Given the description of an element on the screen output the (x, y) to click on. 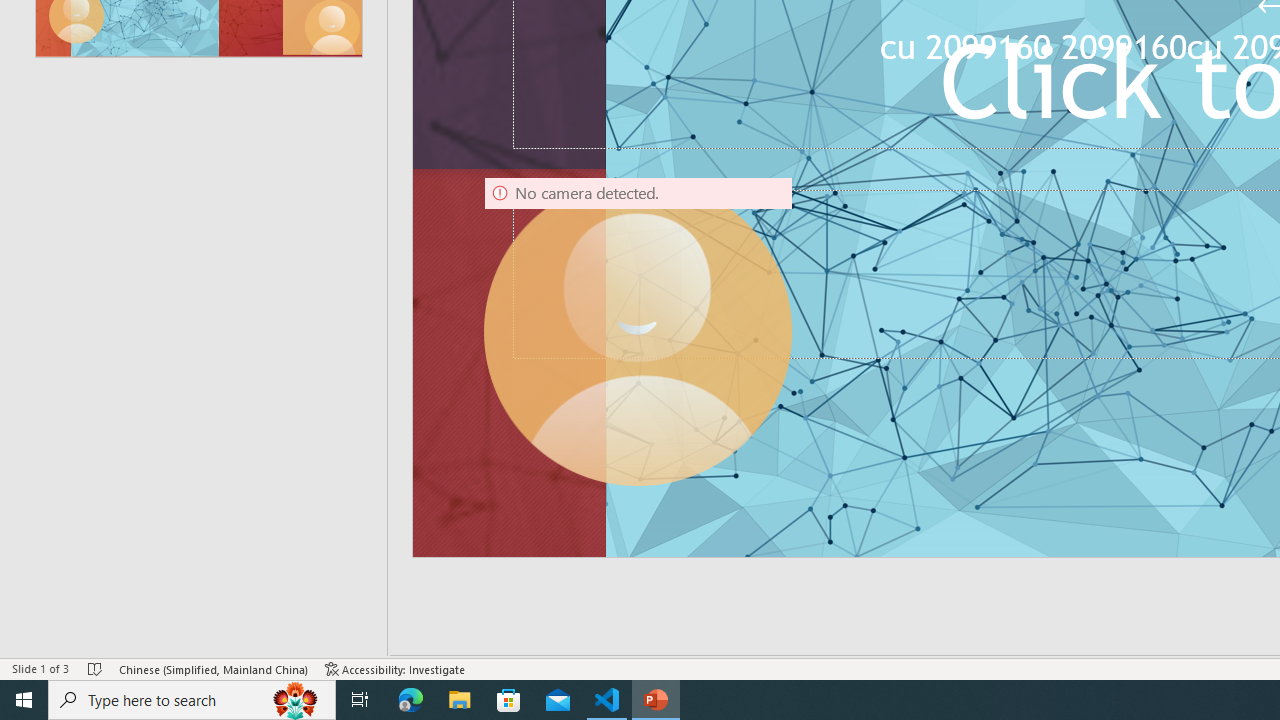
Accessibility Checker Accessibility: Investigate (395, 668)
Camera 9, No camera detected. (637, 330)
Spell Check No Errors (95, 668)
